Given the description of an element on the screen output the (x, y) to click on. 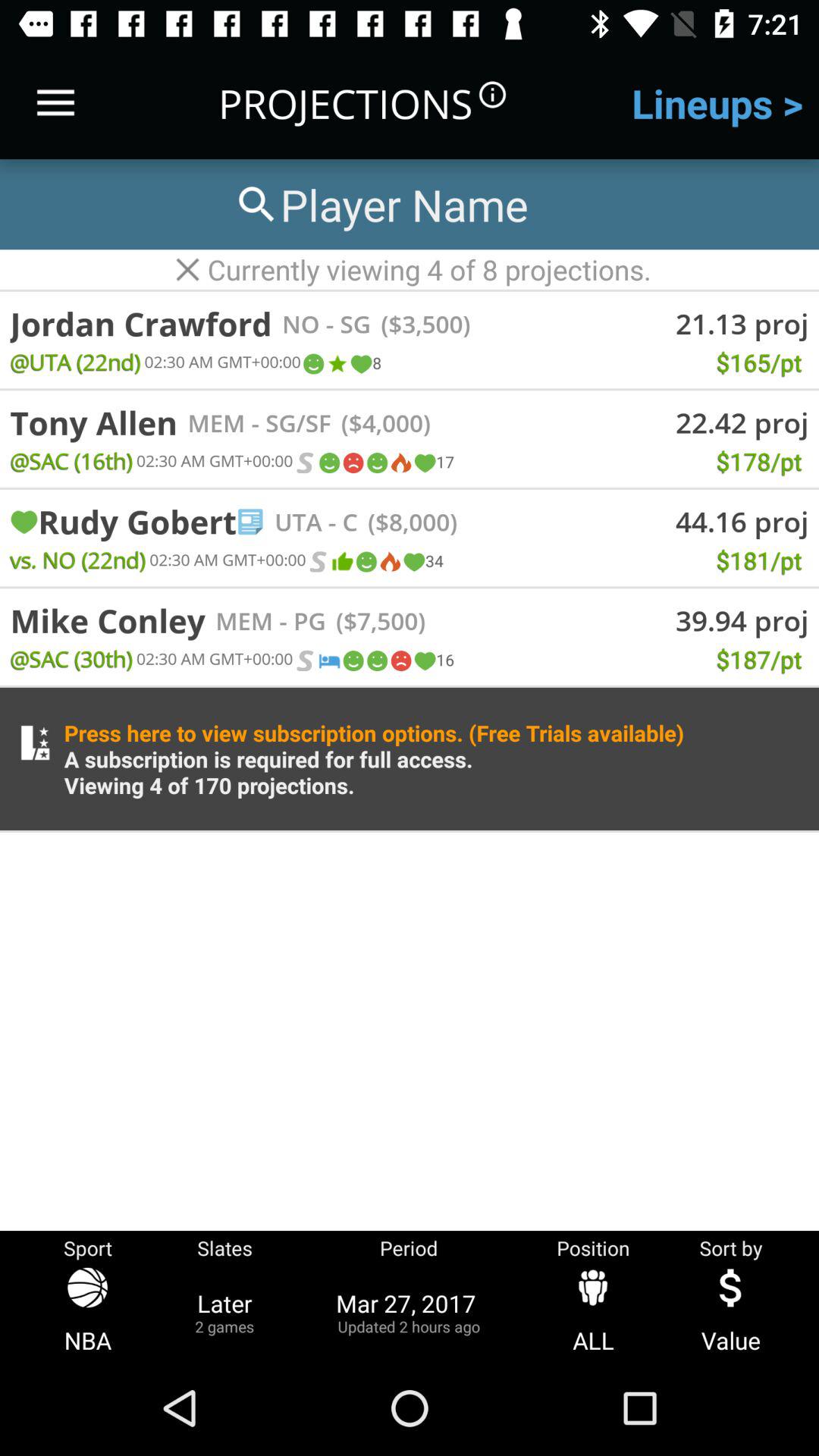
jump to the vs. no (22nd) (77, 559)
